Given the description of an element on the screen output the (x, y) to click on. 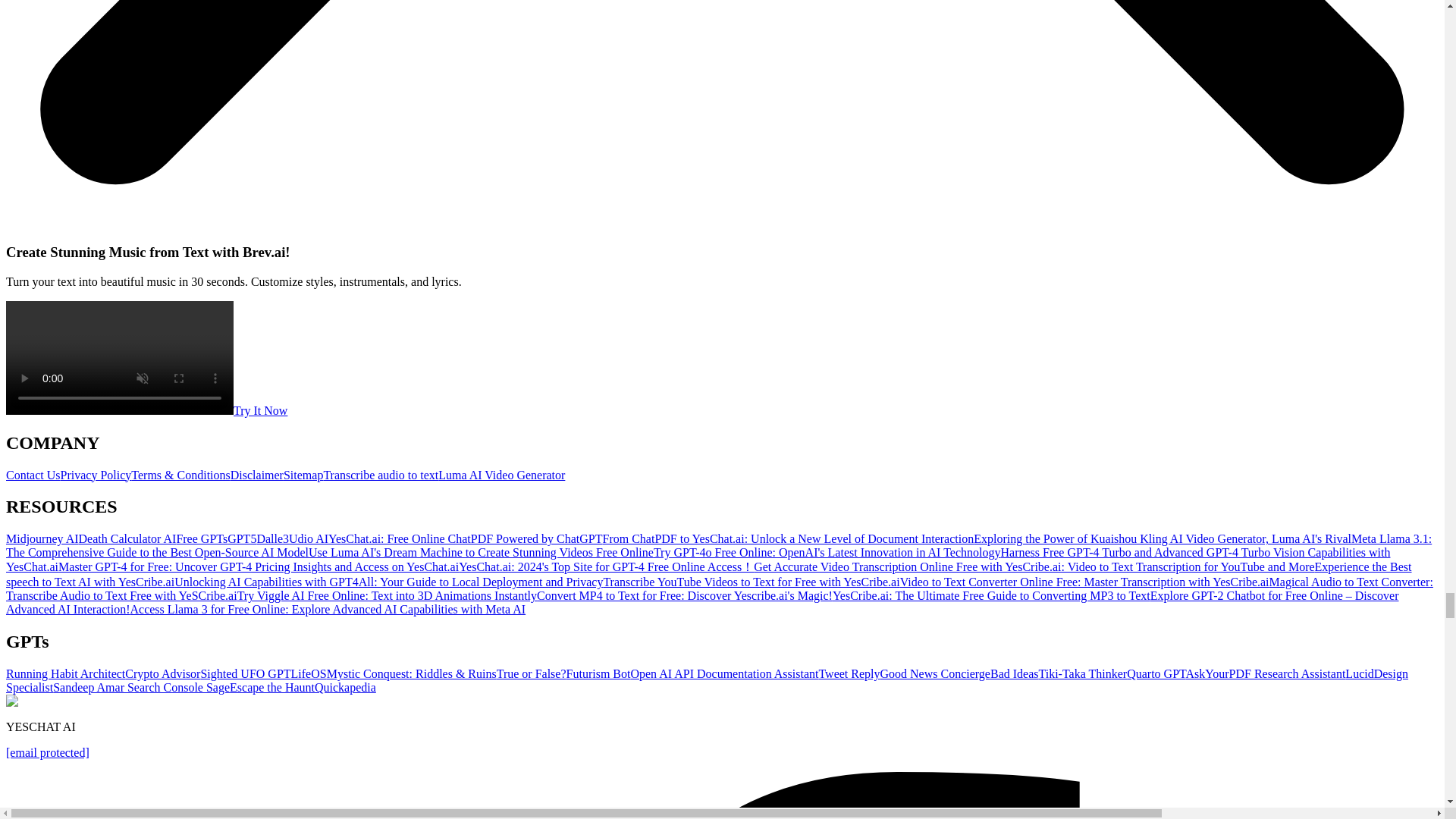
Privacy Policy (96, 474)
Luma AI Video Generator (501, 474)
Disclaimer (256, 474)
Contact Us (33, 474)
Midjourney AI (41, 538)
Transcribe audio to text (380, 474)
Sitemap (303, 474)
